Given the description of an element on the screen output the (x, y) to click on. 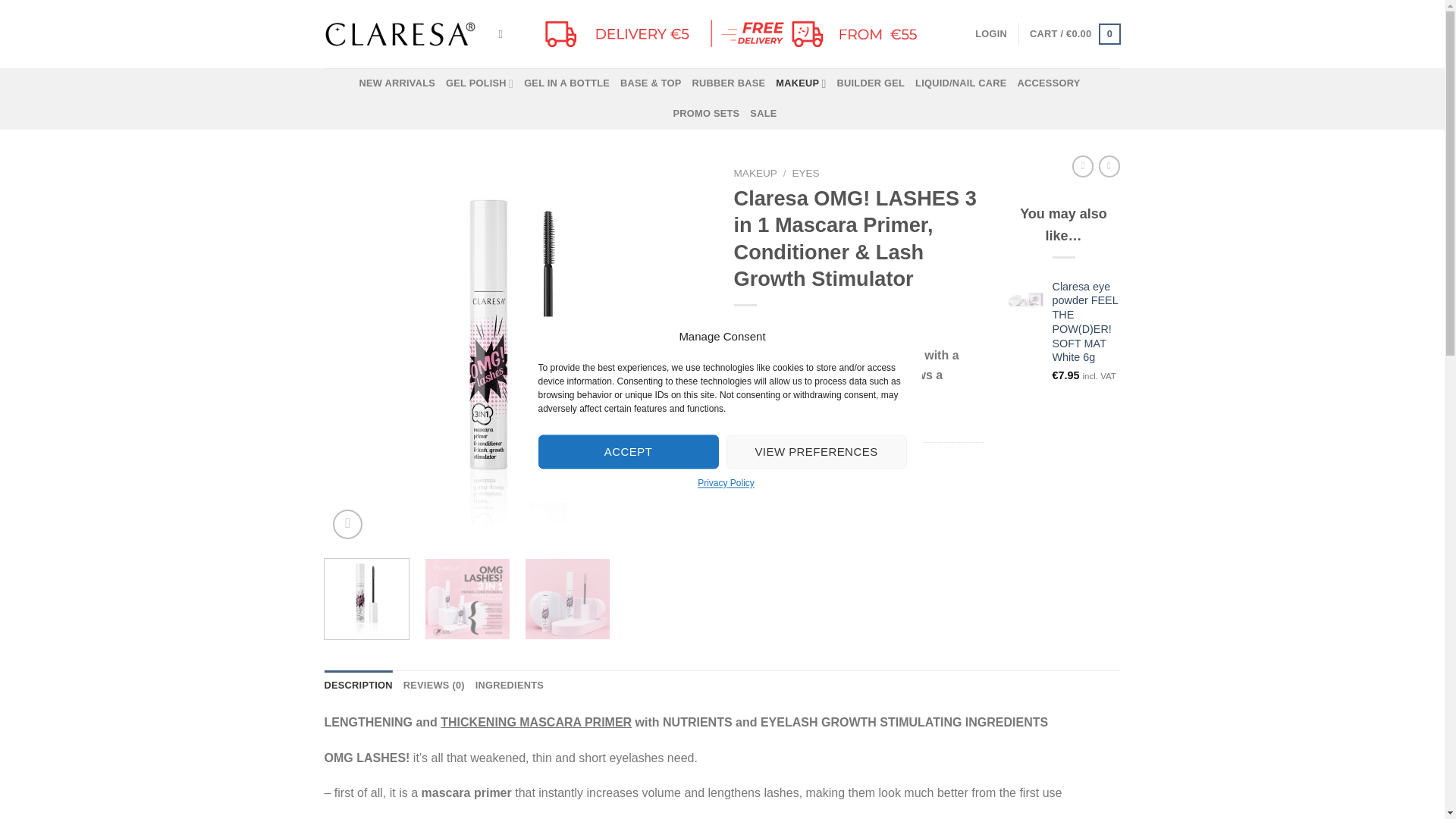
Share on Facebook (747, 488)
NEW ARRIVALS (397, 82)
Login (991, 33)
ACCEPT (628, 451)
Pin on Pinterest (828, 488)
Zoom (347, 523)
Share on LinkedIn (856, 488)
Share on Twitter (774, 488)
Cart (1074, 34)
GEL POLISH (479, 82)
